Given the description of an element on the screen output the (x, y) to click on. 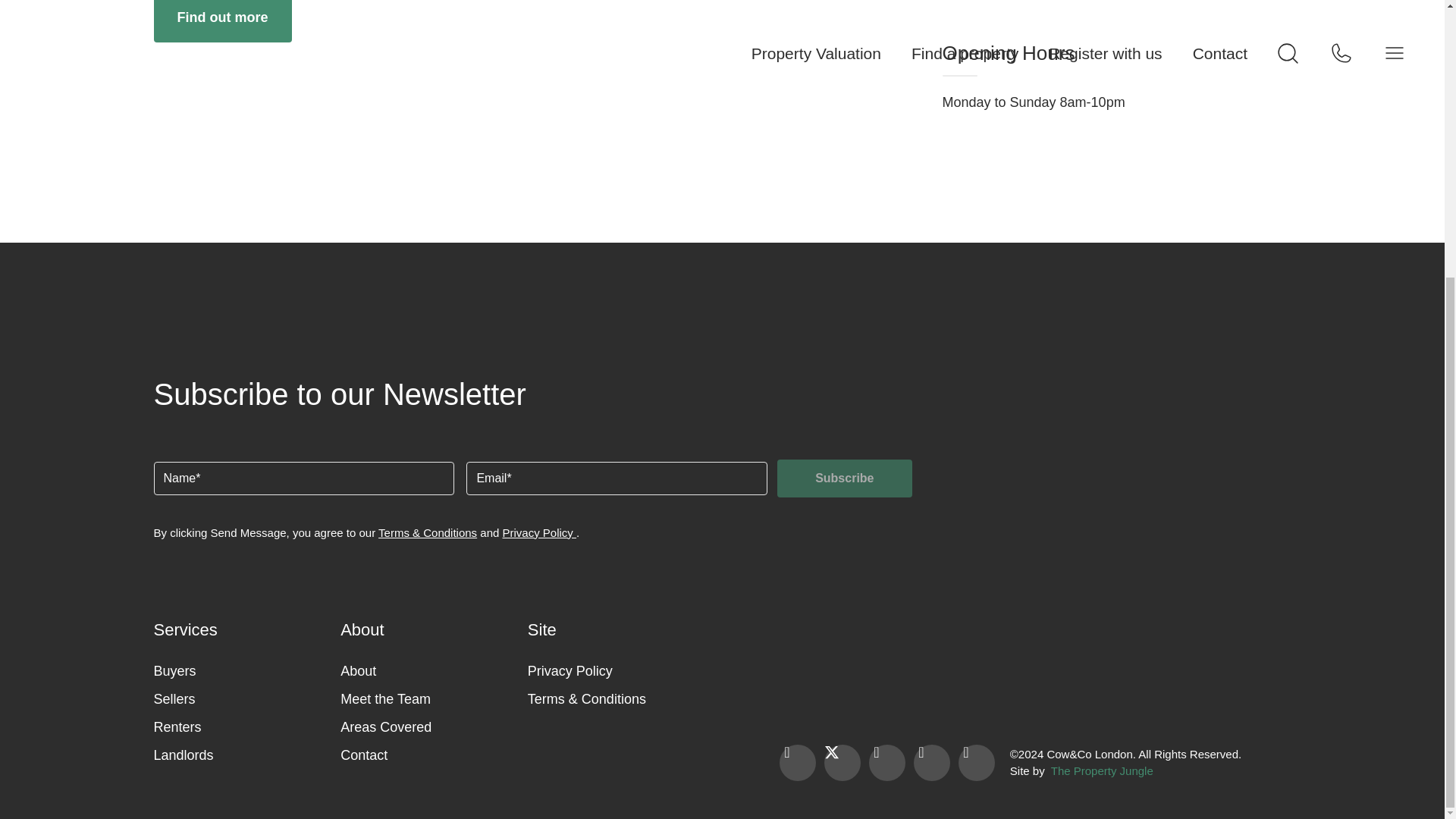
Zoopla (950, 628)
Subscribe (844, 478)
tpo (1111, 635)
moneyshield (1029, 686)
Find out more (221, 21)
tsi (1252, 636)
RIGHTMOVE (786, 628)
Arla (786, 692)
ICO (1252, 694)
